Given the description of an element on the screen output the (x, y) to click on. 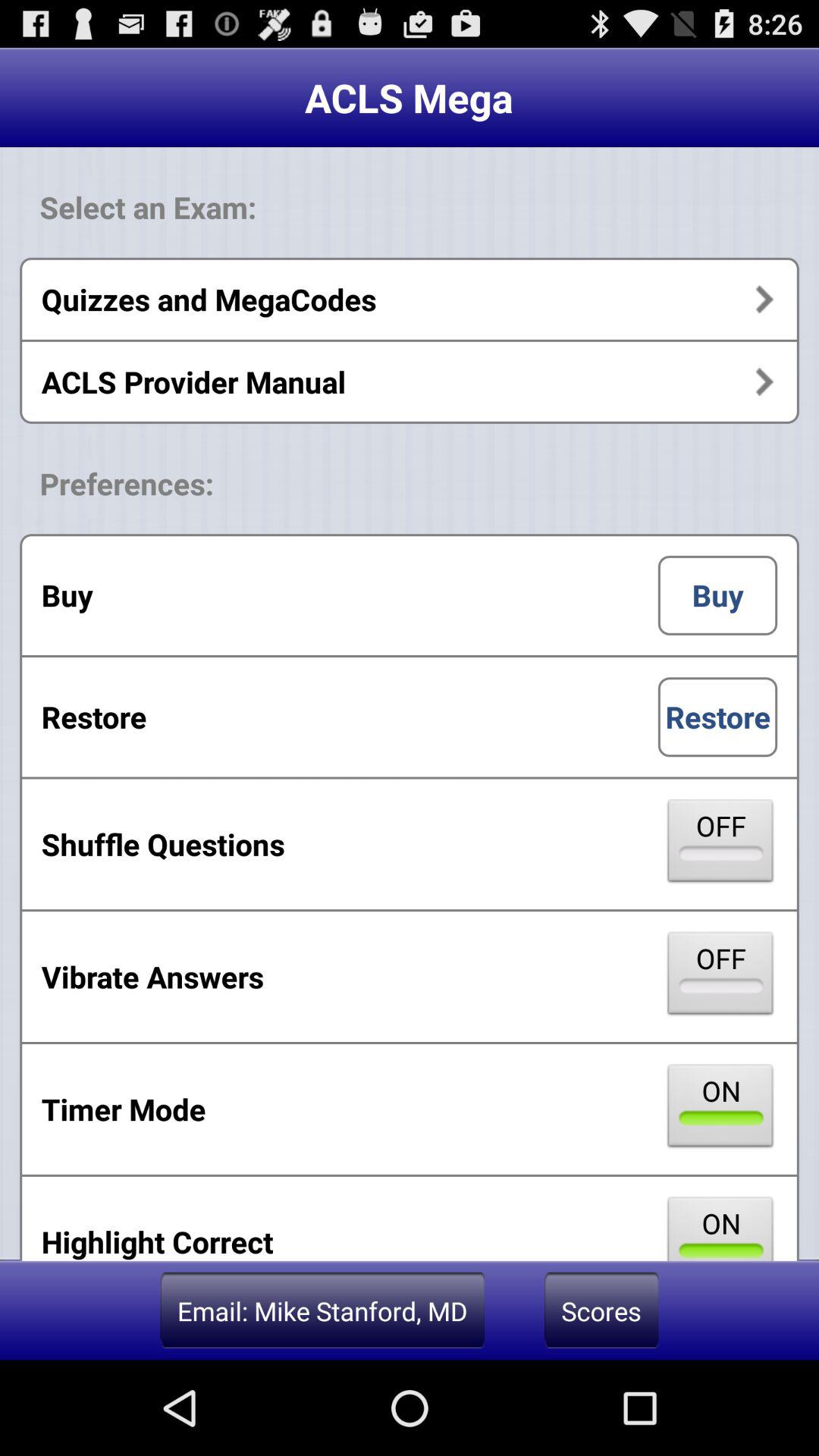
turn on acls provider manual item (409, 381)
